Given the description of an element on the screen output the (x, y) to click on. 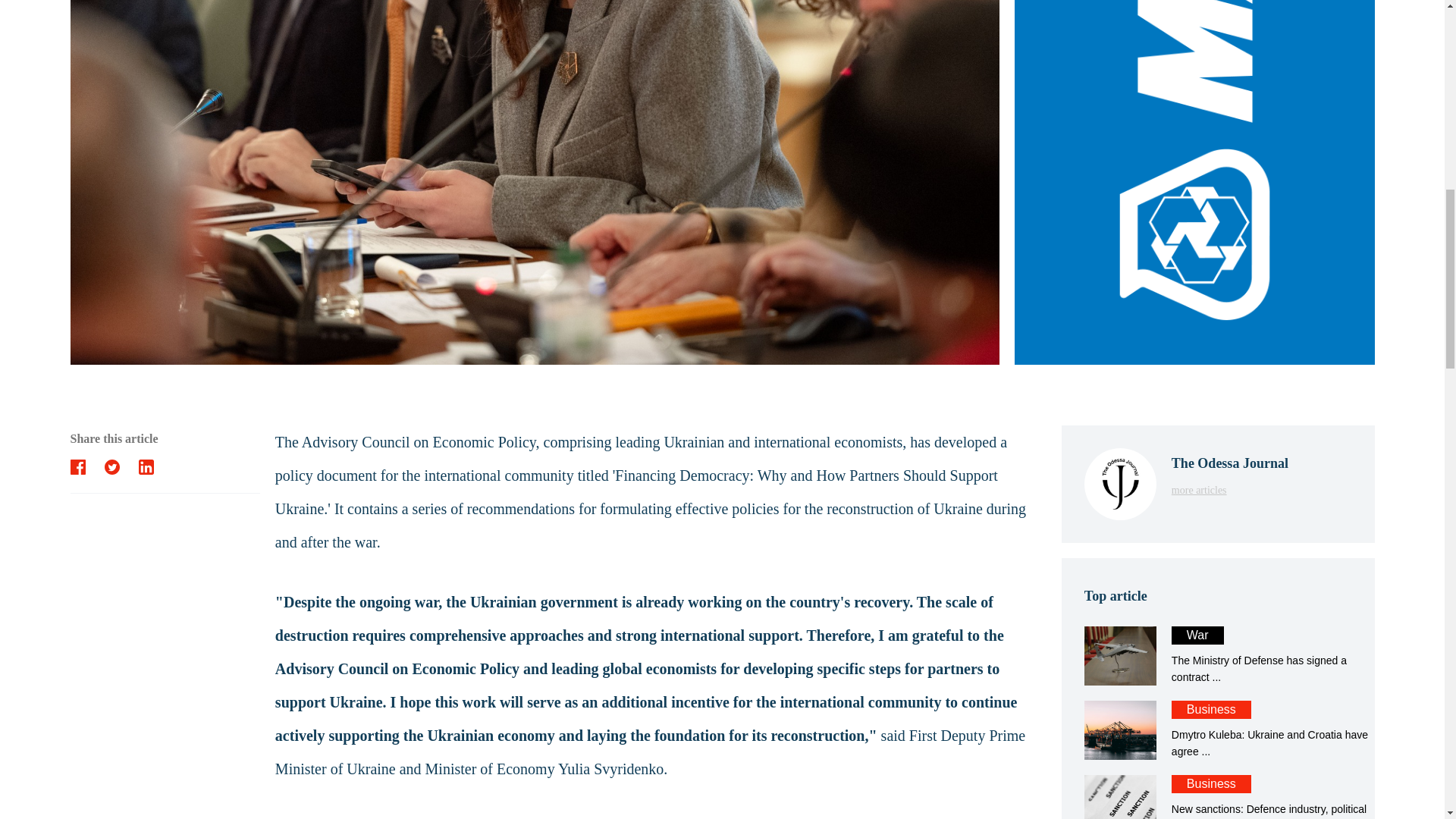
Read (1218, 655)
Read (1218, 730)
more articles (1230, 489)
Read (1218, 796)
more articles (1218, 796)
